Given the description of an element on the screen output the (x, y) to click on. 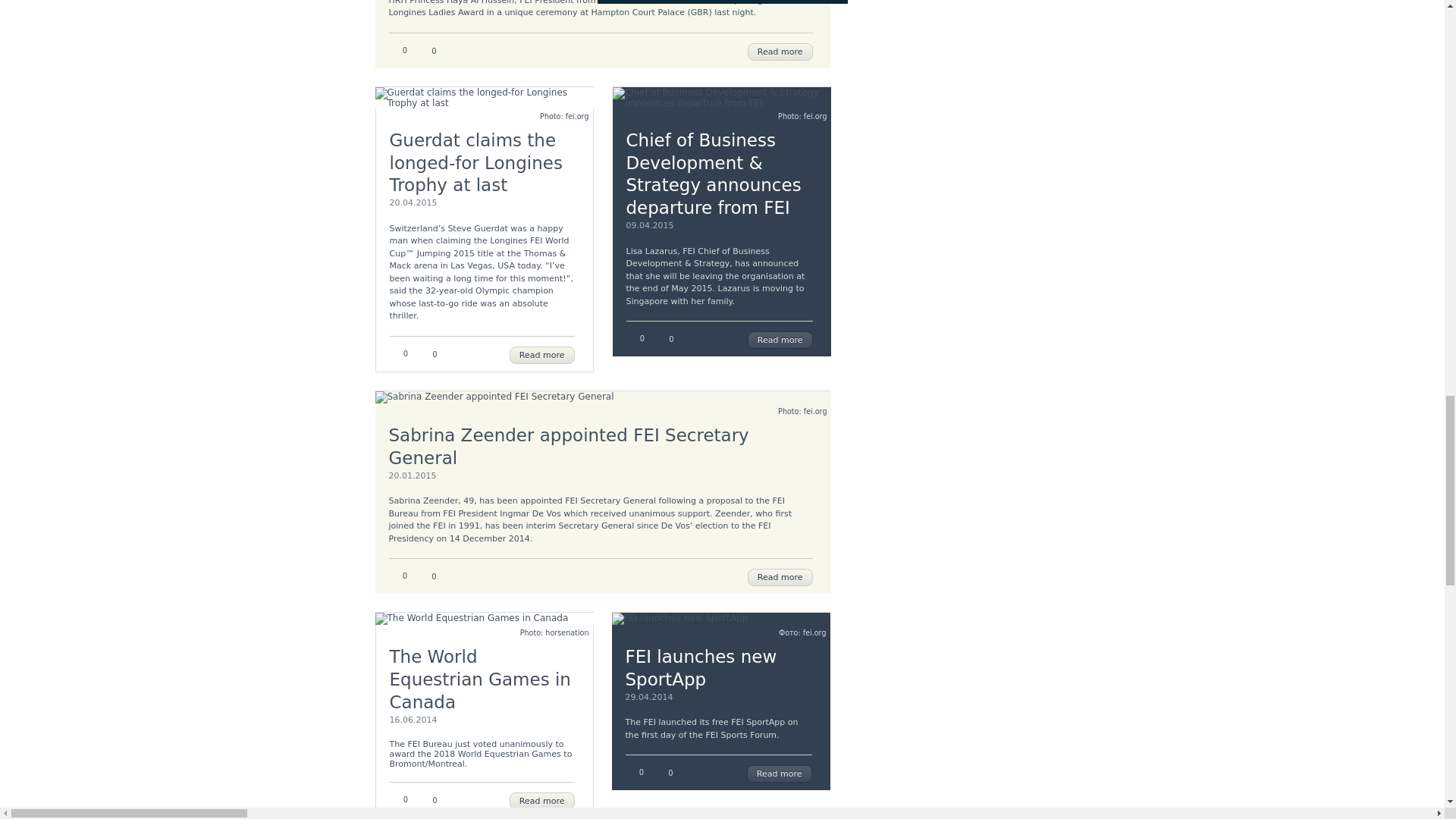
Read more (779, 773)
Read more (780, 577)
Read more (780, 339)
Read more (542, 800)
Read more (542, 354)
Read more (780, 51)
